Given the description of an element on the screen output the (x, y) to click on. 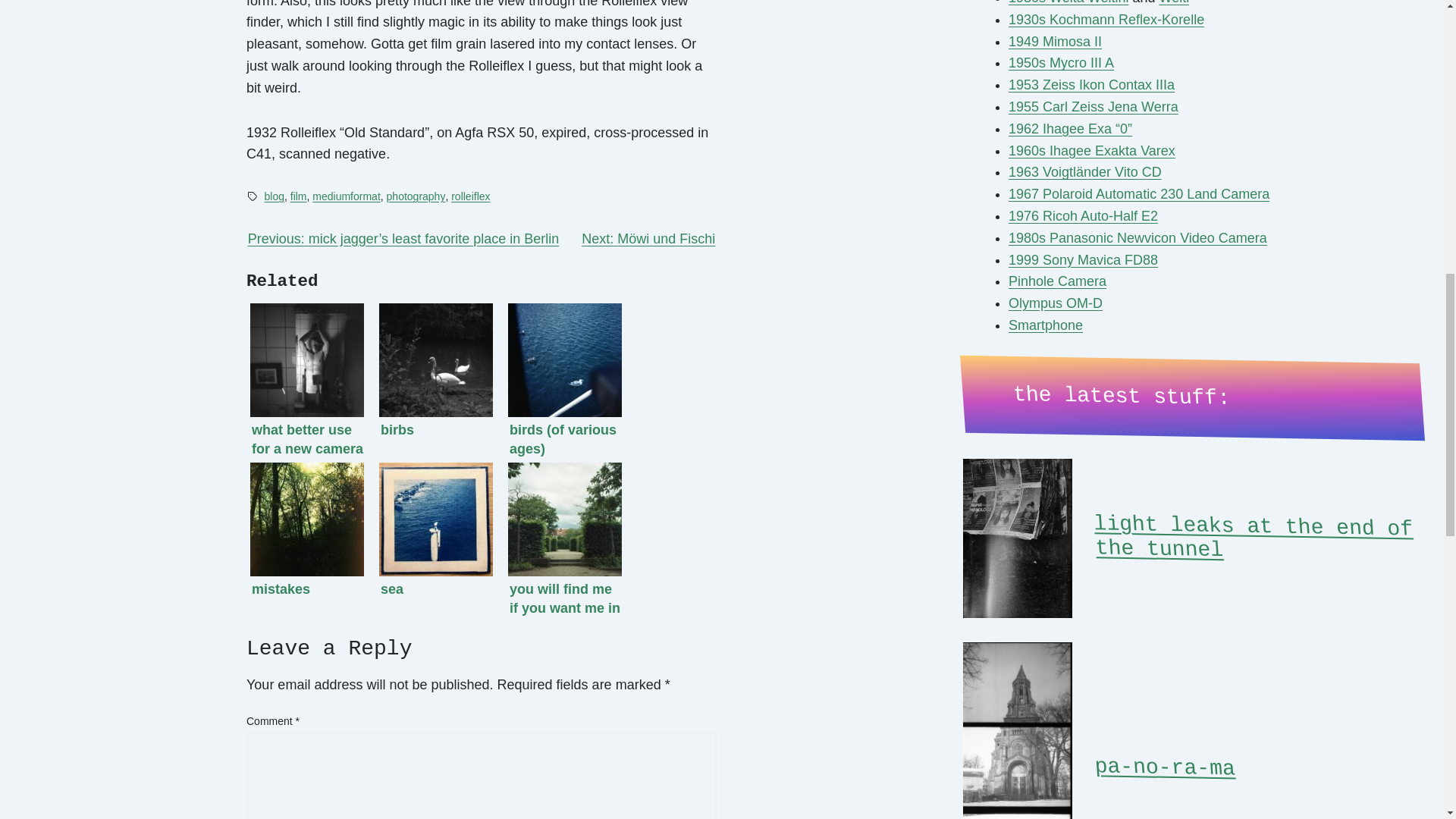
rolleiflex (470, 196)
mediumformat (346, 196)
photography (416, 196)
blog (273, 196)
film (298, 196)
